Given the description of an element on the screen output the (x, y) to click on. 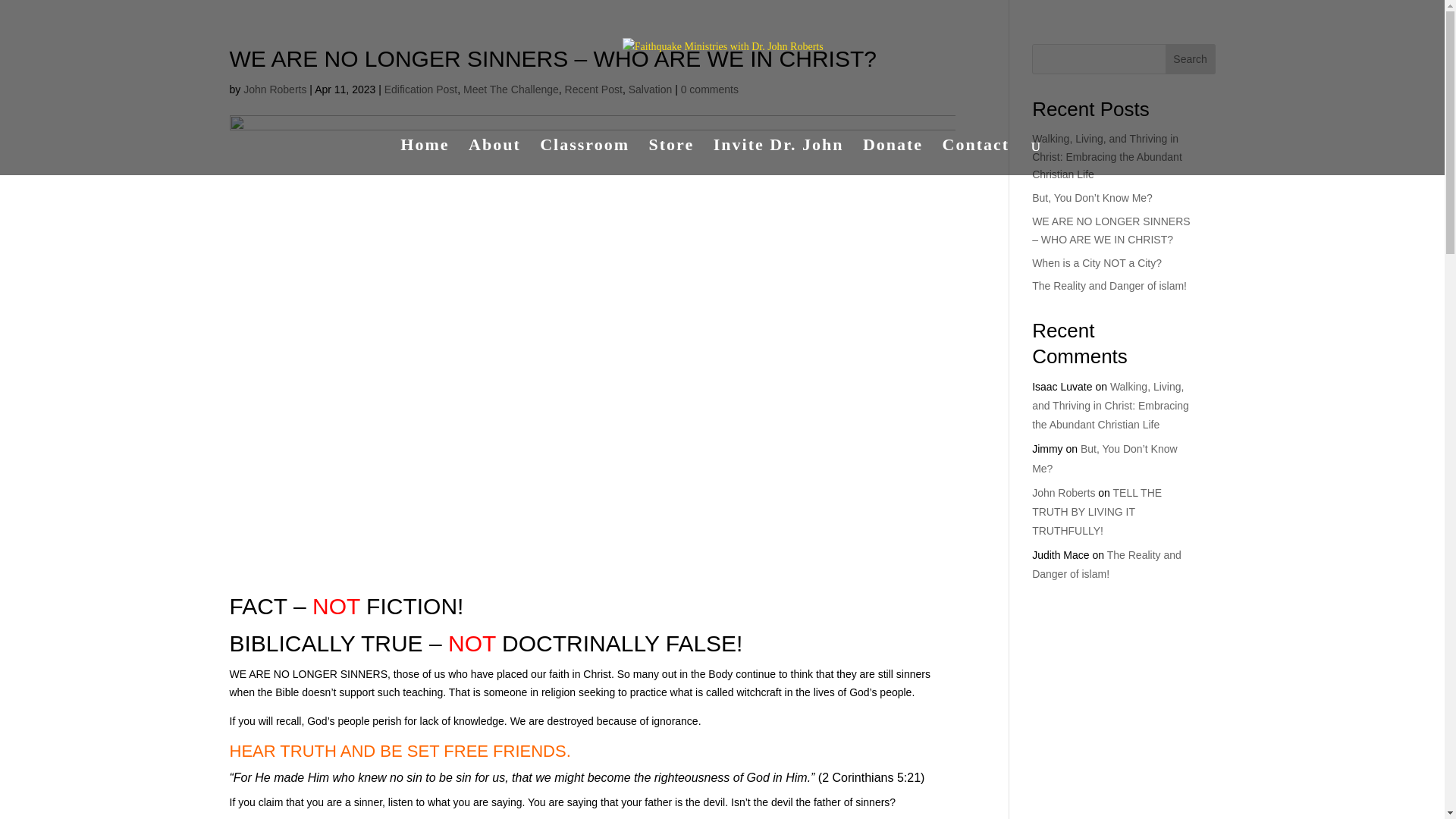
Invite Dr. John (778, 157)
TELL THE TRUTH BY LIVING IT TRUTHFULLY! (1096, 511)
Posts by John Roberts (274, 89)
John Roberts (1063, 492)
Classroom (584, 157)
Store (671, 157)
Salvation (650, 89)
Search (1190, 59)
The Reality and Danger of islam! (1106, 563)
